Given the description of an element on the screen output the (x, y) to click on. 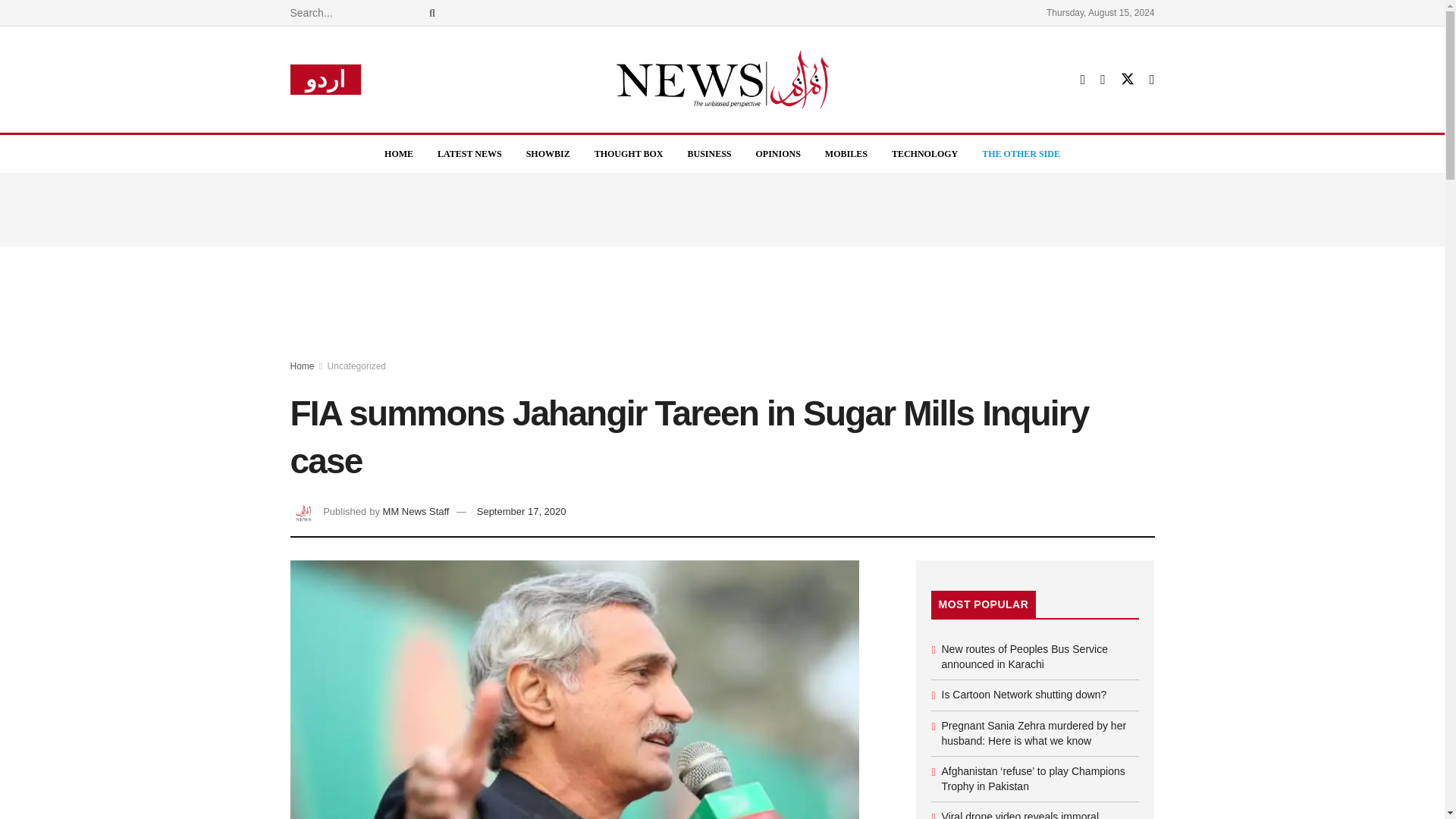
TECHNOLOGY (924, 153)
THOUGHT BOX (628, 153)
SHOWBIZ (547, 153)
THE OTHER SIDE (1020, 153)
MOBILES (845, 153)
HOME (398, 153)
LATEST NEWS (469, 153)
OPINIONS (778, 153)
BUSINESS (708, 153)
